Given the description of an element on the screen output the (x, y) to click on. 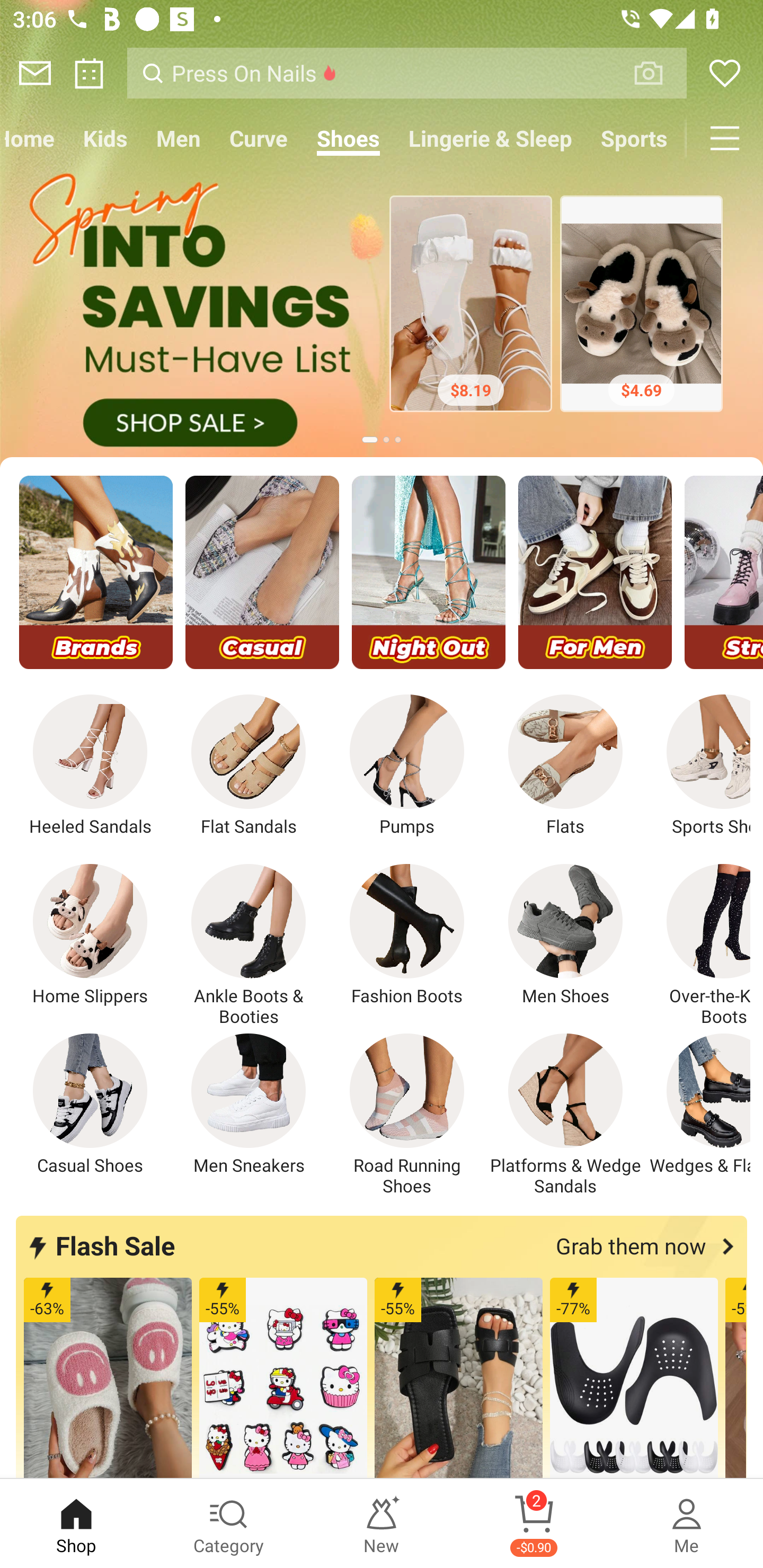
Wishlist (724, 72)
VISUAL SEARCH (657, 72)
Home (34, 137)
Kids (104, 137)
Men (178, 137)
Curve (258, 137)
Shoes (348, 137)
Lingerie & Sleep (490, 137)
Sports (634, 137)
$8.19 $4.69 (381, 307)
Heeled Sandals (89, 765)
Flat Sandals (248, 765)
Pumps (406, 765)
Flats (565, 765)
Sports Shoes (698, 765)
Home Slippers (89, 934)
Ankle Boots & Booties (248, 945)
Fashion Boots (406, 934)
Men Shoes (565, 934)
Over-the-Knee Boots (698, 945)
Casual Shoes (89, 1104)
Men Sneakers (248, 1104)
Road Running Shoes (406, 1114)
Platforms & Wedge Sandals (565, 1114)
Wedges & Flatform (698, 1104)
Category (228, 1523)
New (381, 1523)
Cart 2 -$0.90 (533, 1523)
Me (686, 1523)
